Given the description of an element on the screen output the (x, y) to click on. 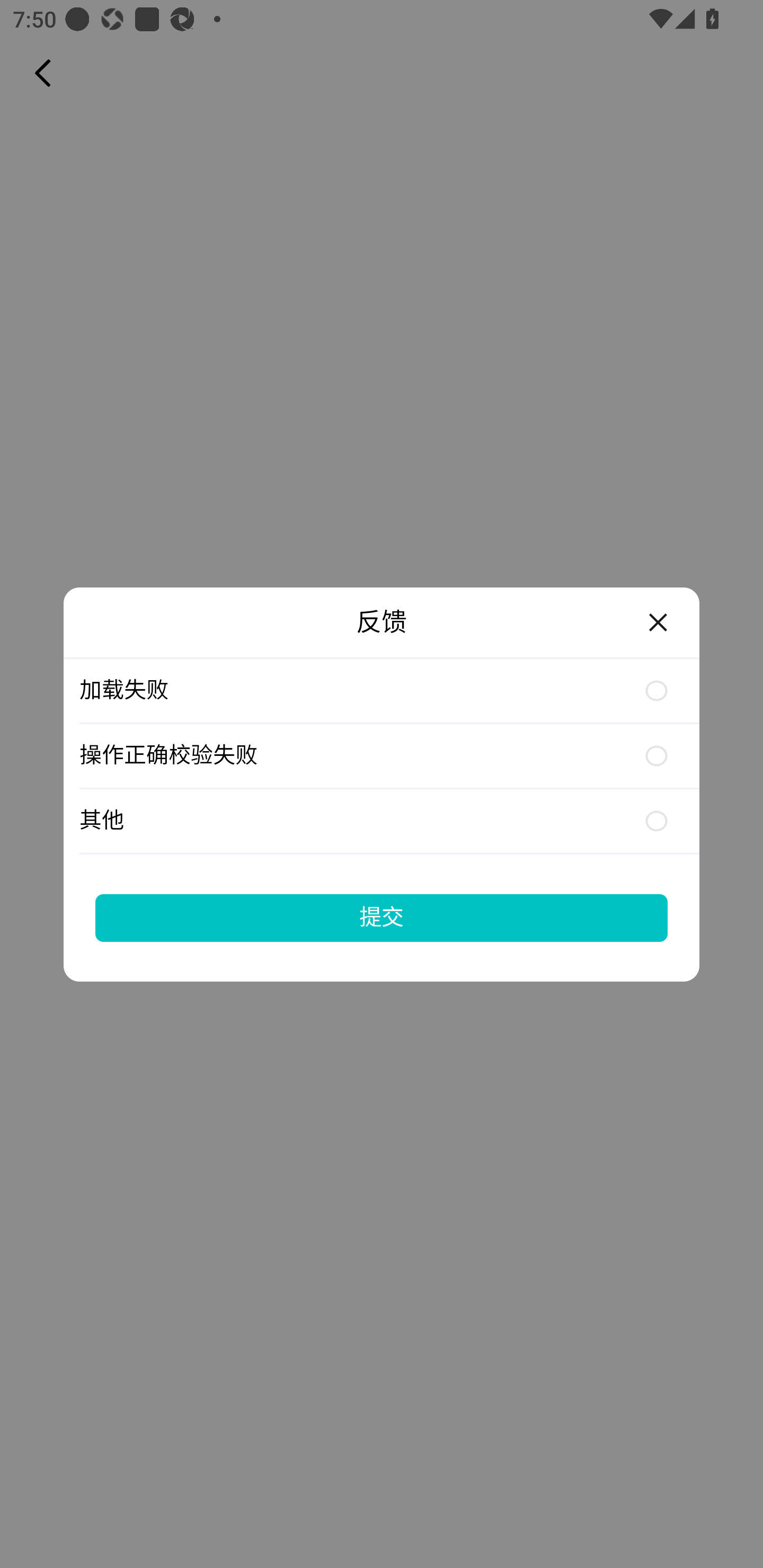
提交 (381, 917)
